Given the description of an element on the screen output the (x, y) to click on. 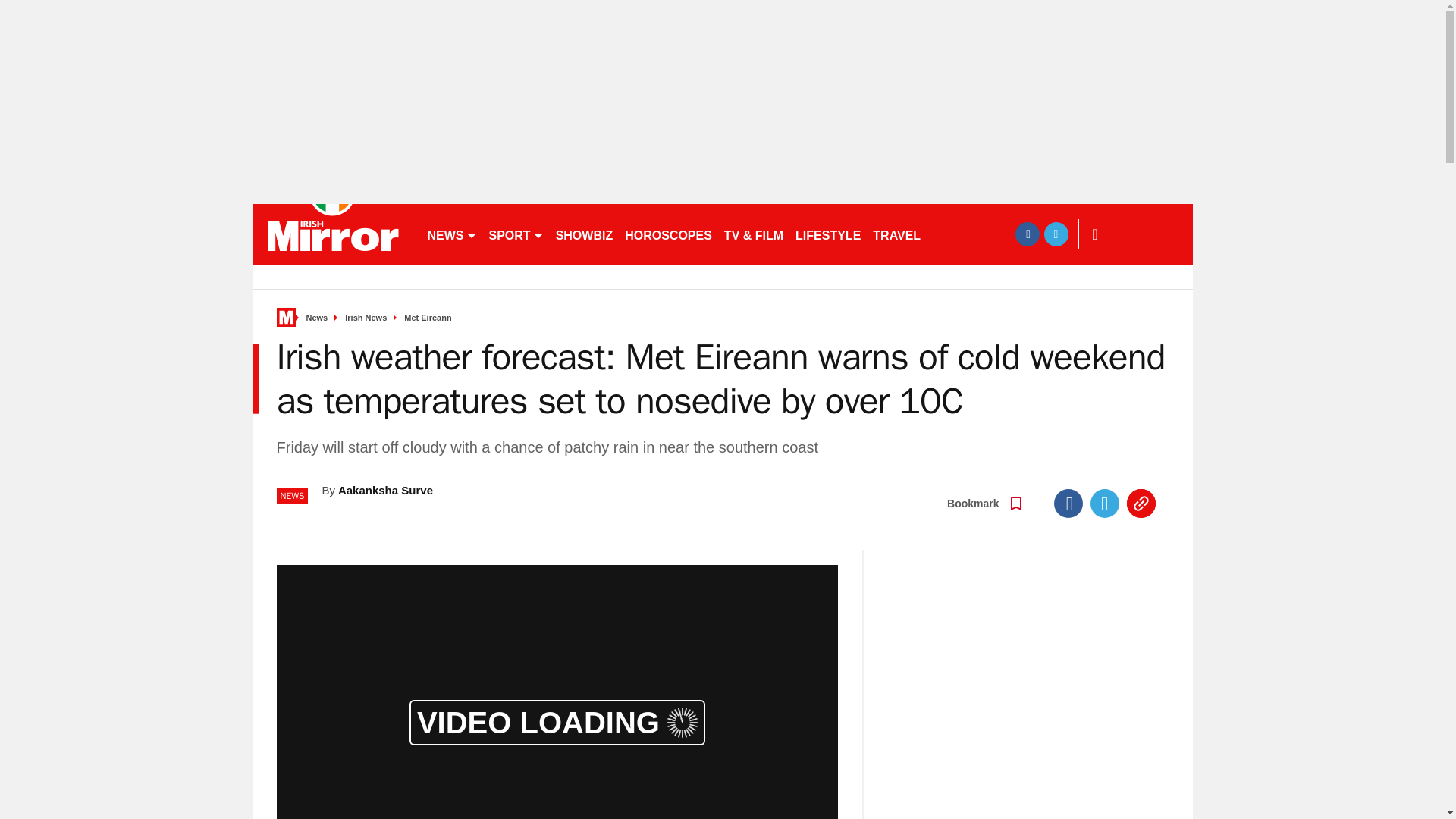
SPORT (514, 233)
TRAVEL (896, 233)
PROPERTY (966, 233)
LIFESTYLE (827, 233)
HOROSCOPES (667, 233)
NEWS (452, 233)
twitter (1055, 233)
SHOWBIZ (585, 233)
Facebook (1068, 502)
facebook (1026, 233)
